Given the description of an element on the screen output the (x, y) to click on. 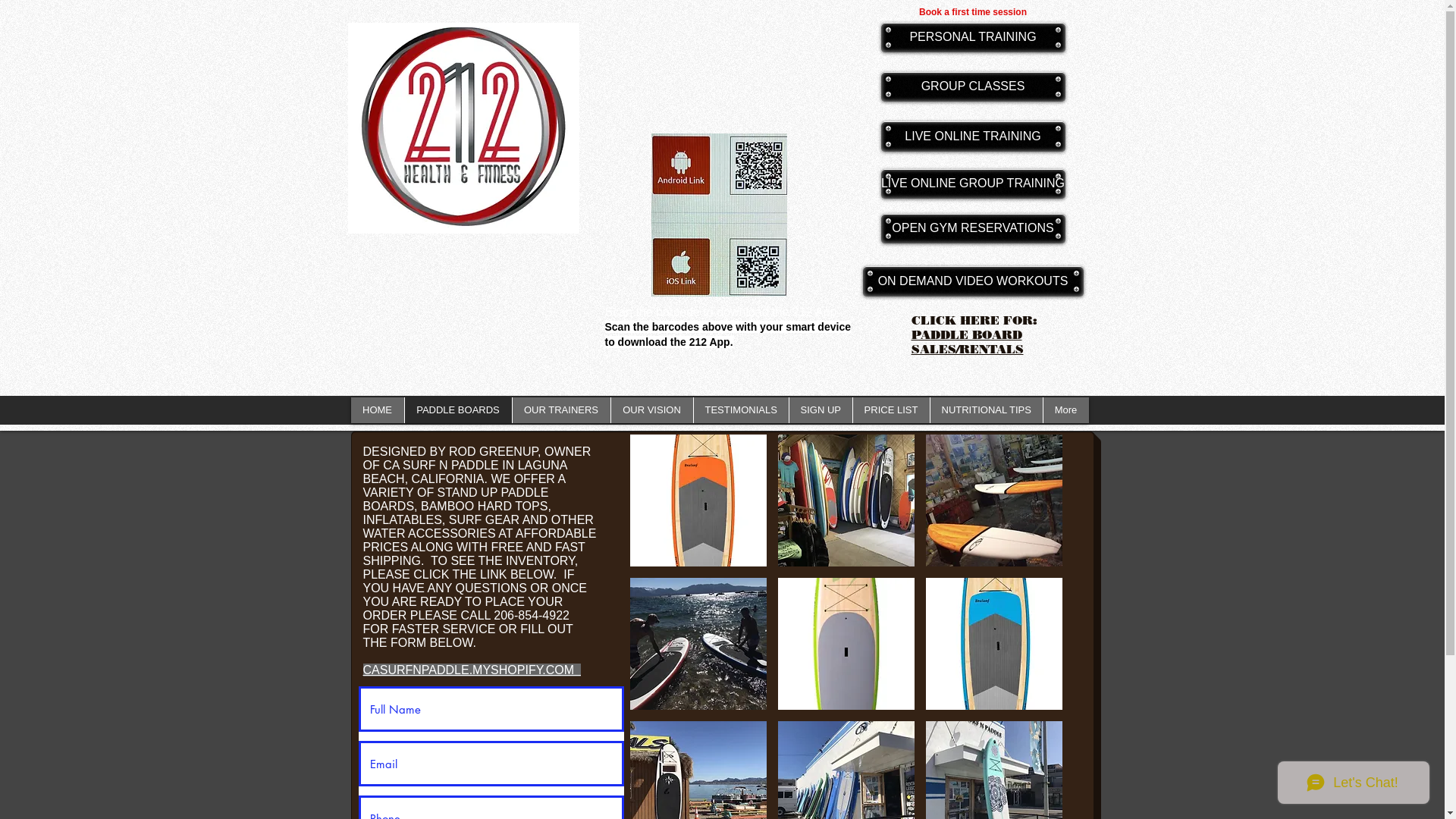
PERSONAL TRAINING Element type: text (973, 37)
GROUP CLASSES Element type: text (973, 86)
OUR TRAINERS Element type: text (560, 410)
LIVE ONLINE TRAINING Element type: text (973, 136)
OUR VISION Element type: text (650, 410)
212 black logo.png Element type: hover (462, 127)
TESTIMONIALS Element type: text (740, 410)
SIGN UP Element type: text (820, 410)
PADDLE BOARDS Element type: text (457, 410)
CASURFNPADDLE.MYSHOPIFY.COM   Element type: text (471, 669)
PADDLE BOARD SALES/RENTALS Element type: text (967, 341)
ON DEMAND VIDEO WORKOUTS Element type: text (972, 281)
OPEN GYM RESERVATIONS Element type: text (973, 228)
LIVE ONLINE GROUP TRAINING Element type: text (973, 183)
PRICE LIST Element type: text (890, 410)
HOME Element type: text (376, 410)
NUTRITIONAL TIPS Element type: text (985, 410)
